Given the description of an element on the screen output the (x, y) to click on. 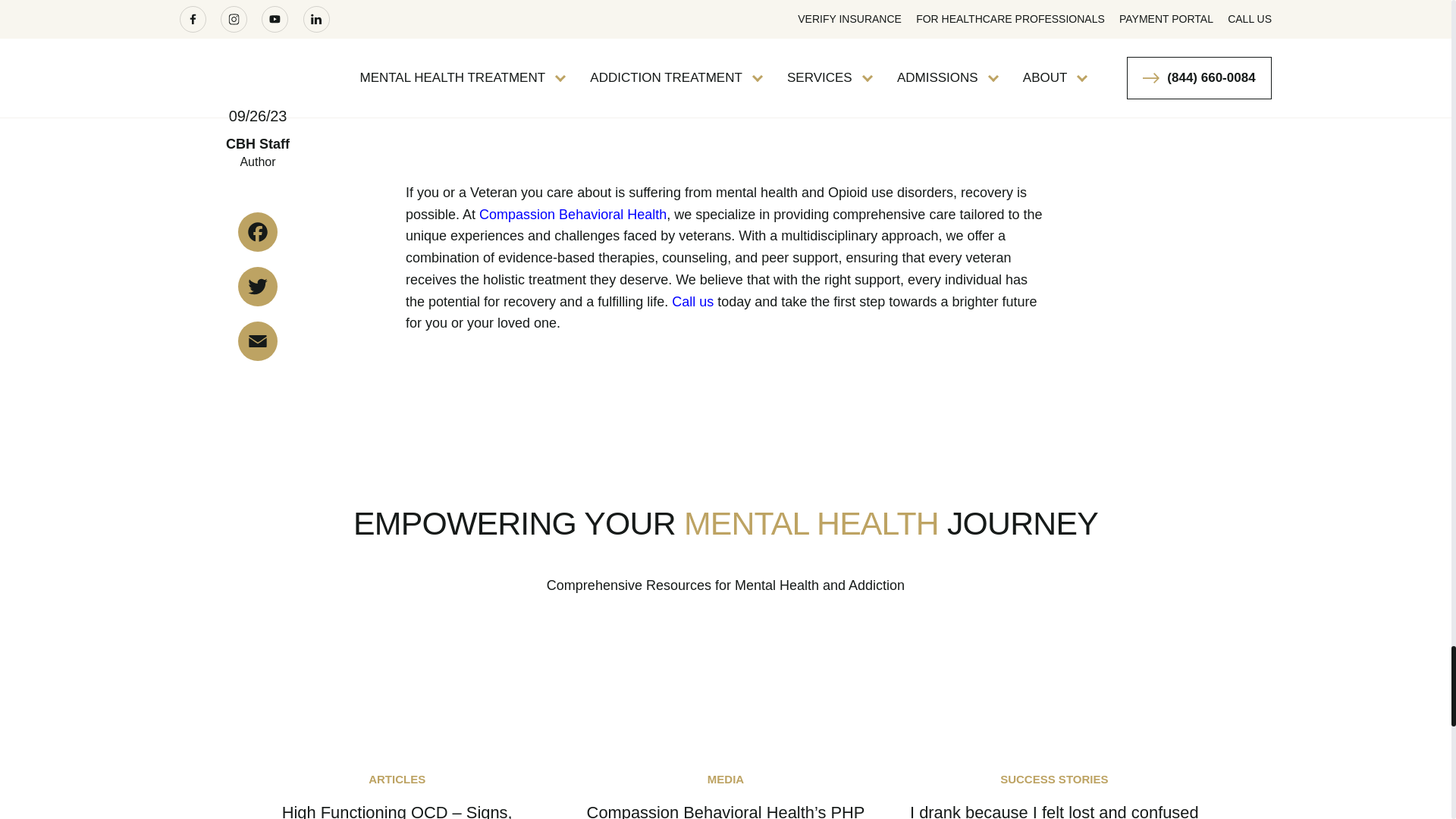
I drank because I felt lost and confused (1054, 810)
